Given the description of an element on the screen output the (x, y) to click on. 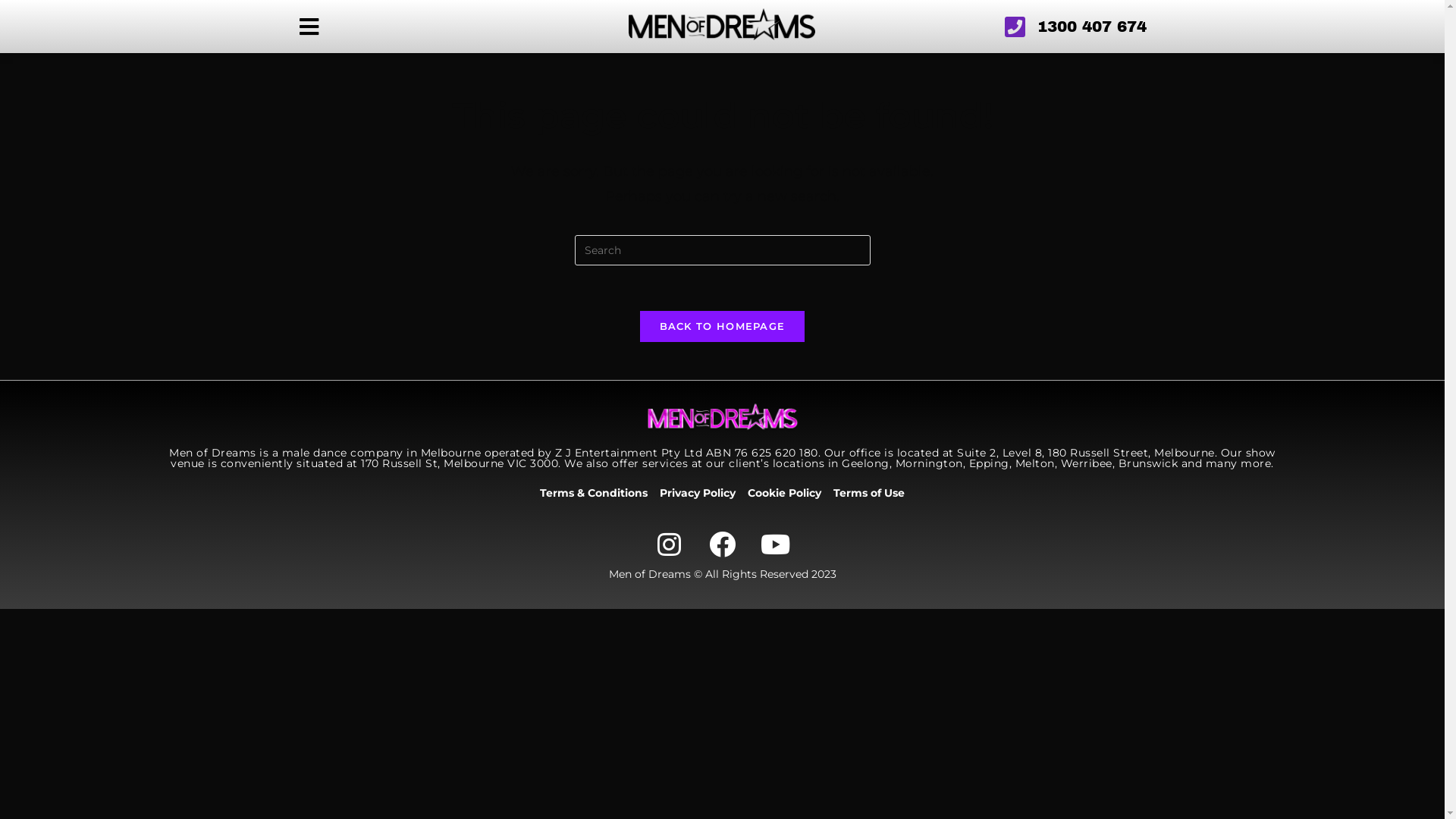
Terms of Use Element type: text (868, 492)
Cookie Policy Element type: text (784, 492)
Privacy Policy Element type: text (697, 492)
1300 407 674 Element type: text (1009, 26)
Terms & Conditions Element type: text (593, 492)
BACK TO HOMEPAGE Element type: text (722, 326)
